Given the description of an element on the screen output the (x, y) to click on. 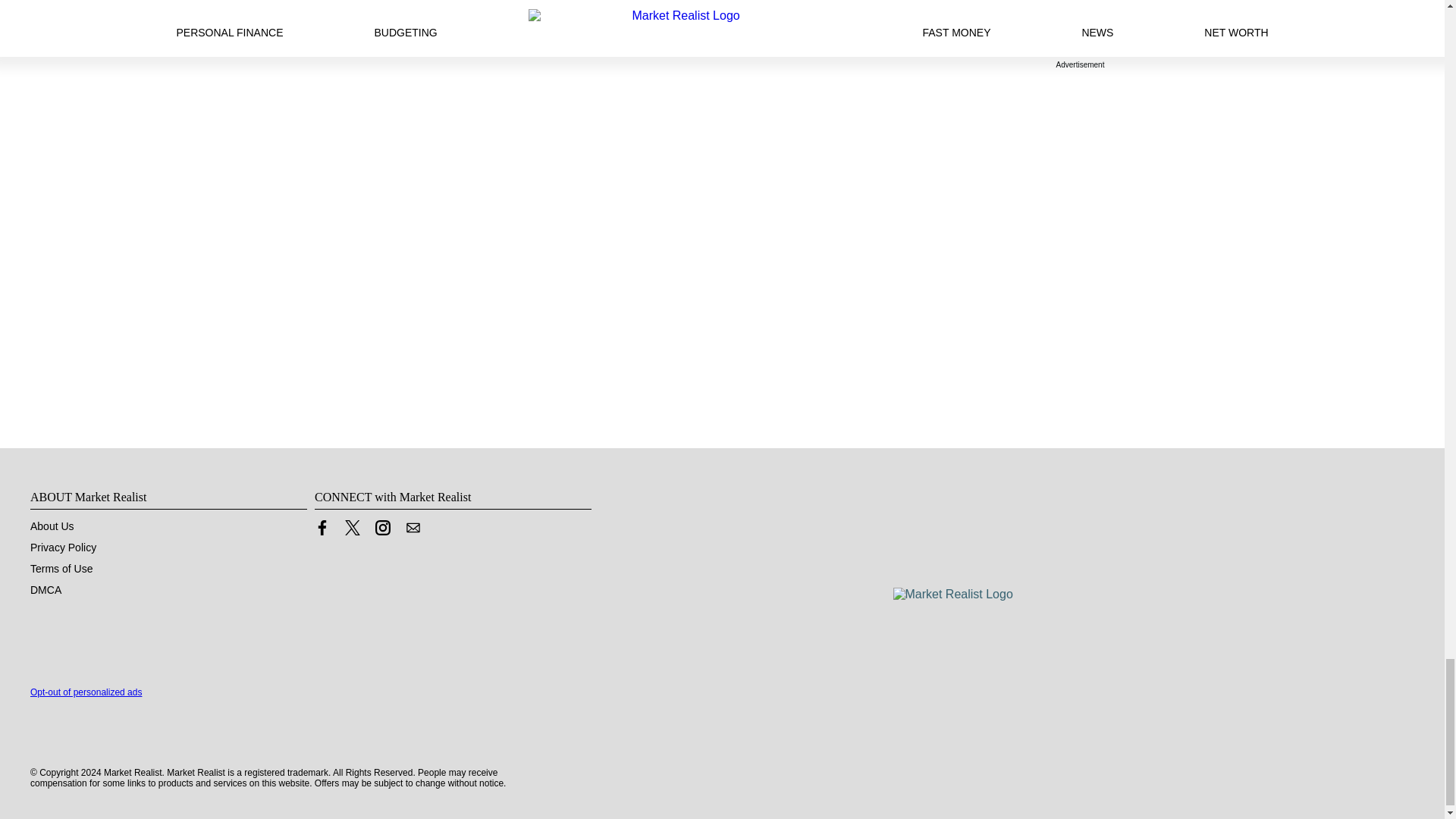
Link to X (352, 530)
Contact us by Email (413, 530)
Privacy Policy (63, 547)
Terms of Use (61, 568)
Opt-out of personalized ads (85, 692)
Contact us by Email (413, 527)
Link to Instagram (382, 530)
DMCA (45, 589)
Link to Facebook (322, 527)
Link to Instagram (382, 527)
Terms of Use (61, 568)
About Us (52, 526)
Privacy Policy (63, 547)
DMCA (45, 589)
About Us (52, 526)
